Given the description of an element on the screen output the (x, y) to click on. 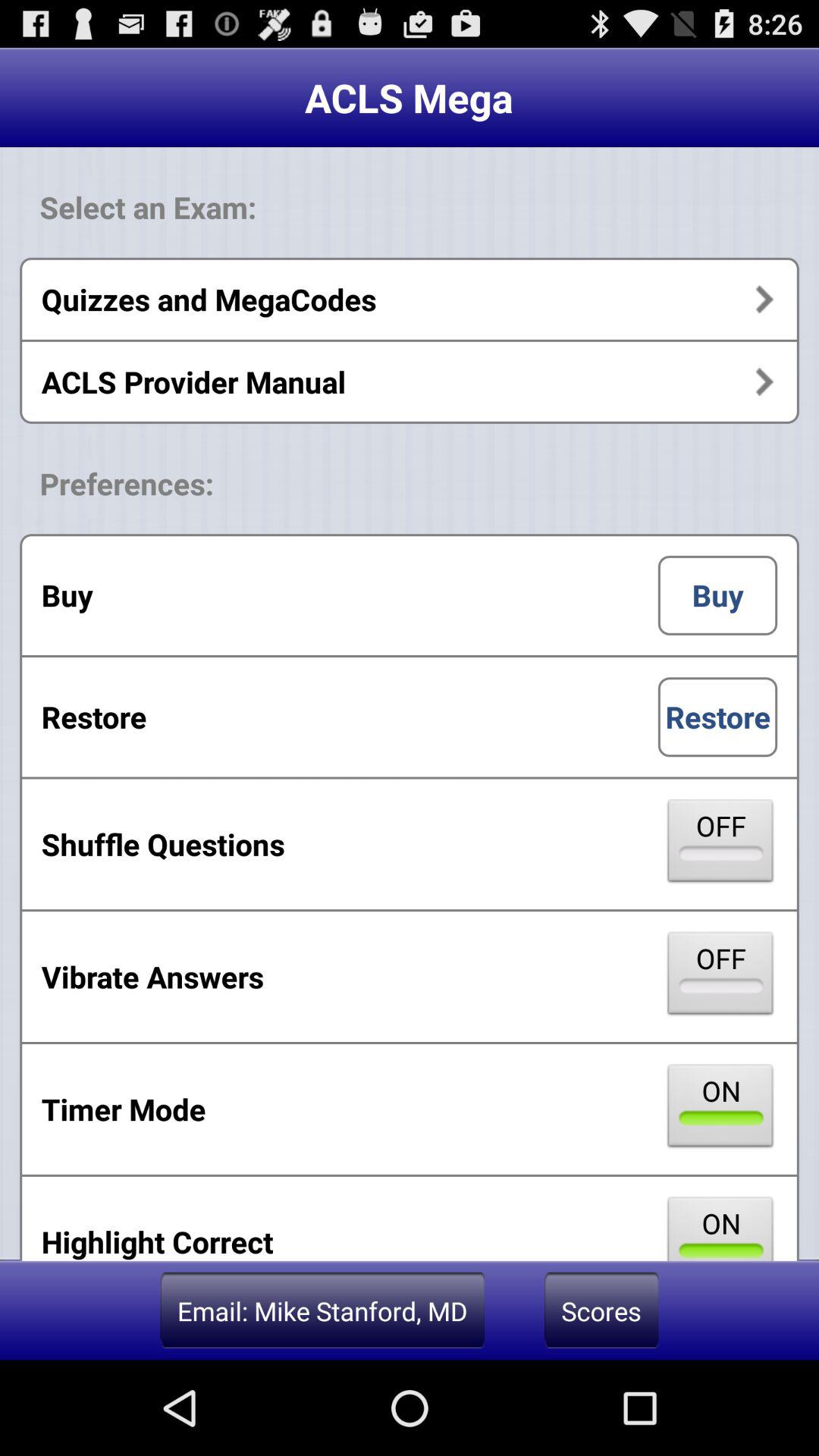
tap the email mike stanford button (322, 1310)
